Given the description of an element on the screen output the (x, y) to click on. 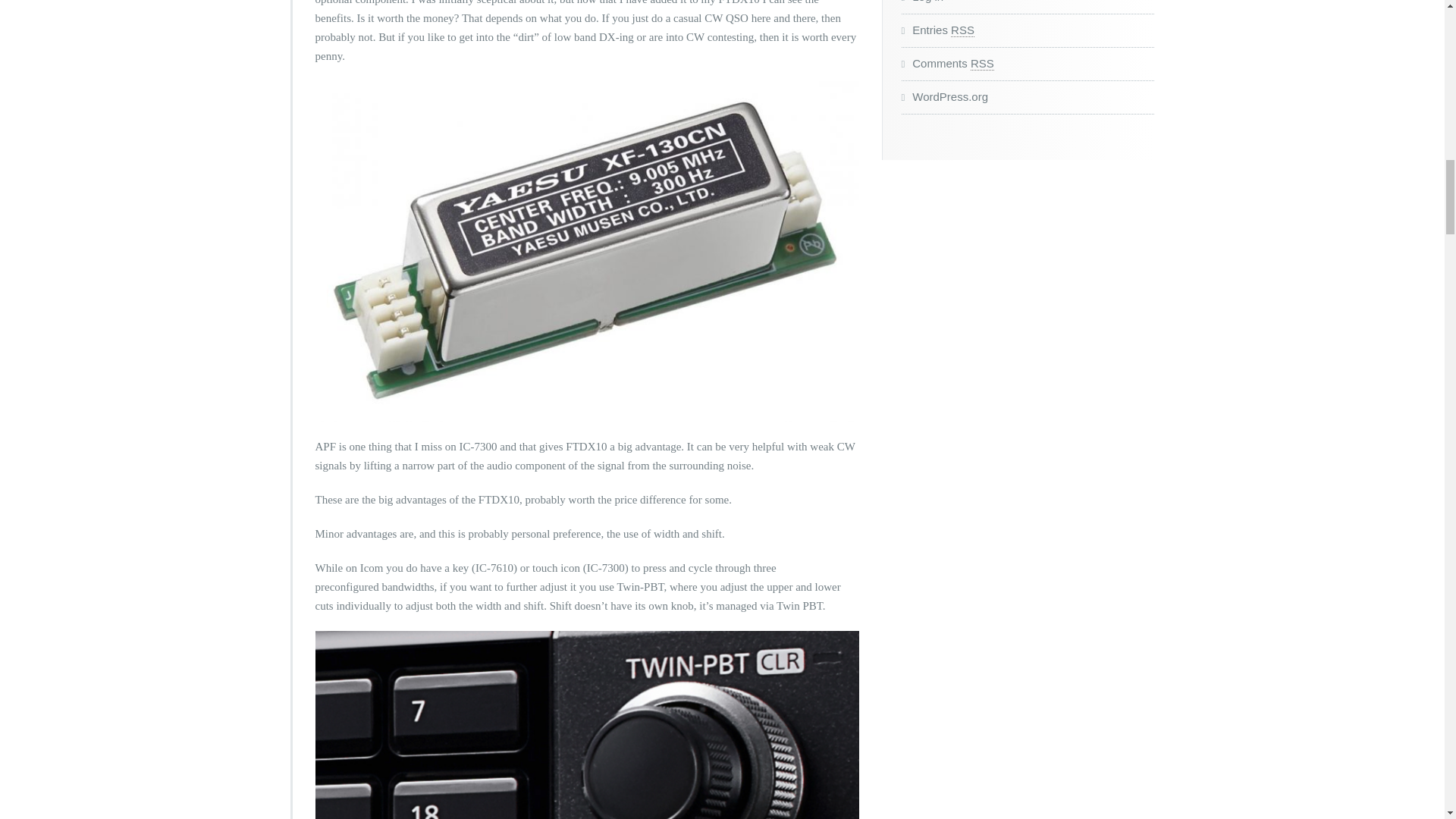
Really Simple Syndication (962, 29)
Really Simple Syndication (982, 63)
